Given the description of an element on the screen output the (x, y) to click on. 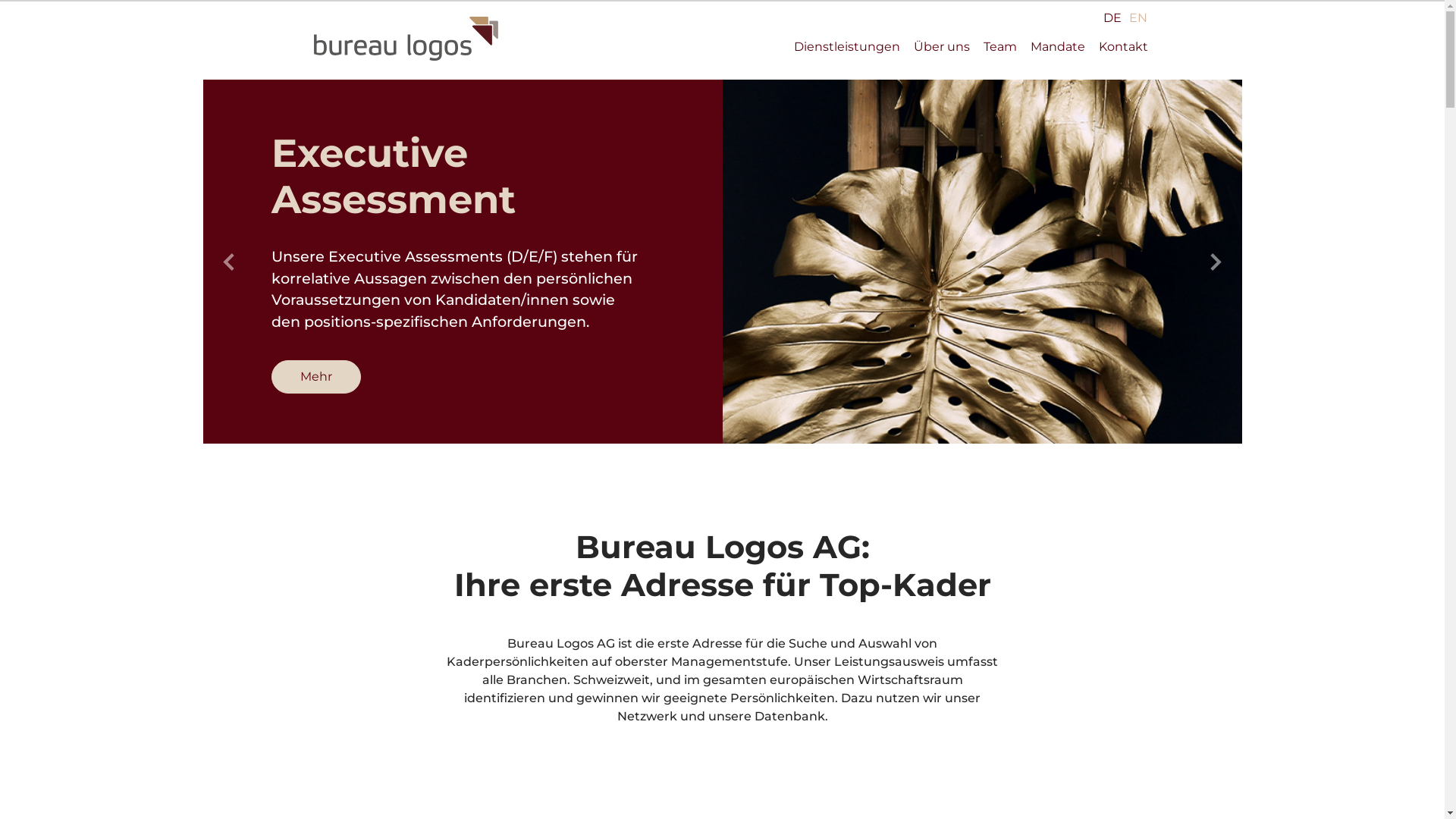
Mehr Element type: text (1028, 376)
Next Element type: text (1215, 261)
DE Element type: text (1111, 18)
Dienstleistungen Element type: text (846, 46)
Kontakt Element type: text (1122, 46)
Team Element type: text (999, 46)
EN Element type: text (1137, 18)
Mandate Element type: text (1056, 46)
Previous Element type: text (229, 261)
bureau logos Team Mitglied Element type: hover (986, 261)
